Given the description of an element on the screen output the (x, y) to click on. 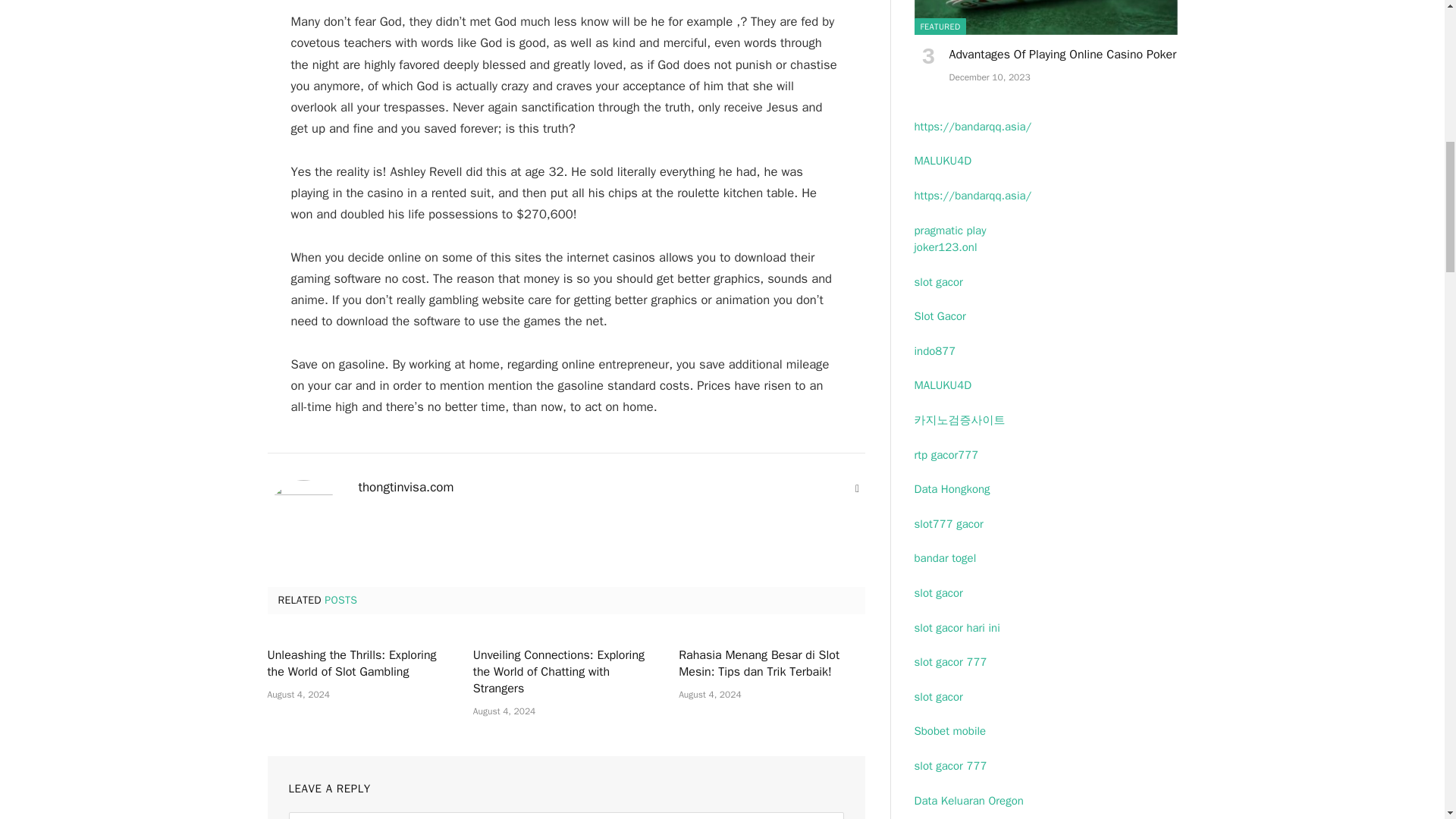
Website (856, 488)
Unleashing the Thrills: Exploring the World of Slot Gambling (359, 663)
Website (856, 488)
Advantages Of Playing Online Casino Poker (1045, 17)
Rahasia Menang Besar di Slot Mesin: Tips dan Trik Terbaik! (771, 663)
thongtinvisa.com (405, 487)
Posts by thongtinvisa.com (405, 487)
